Given the description of an element on the screen output the (x, y) to click on. 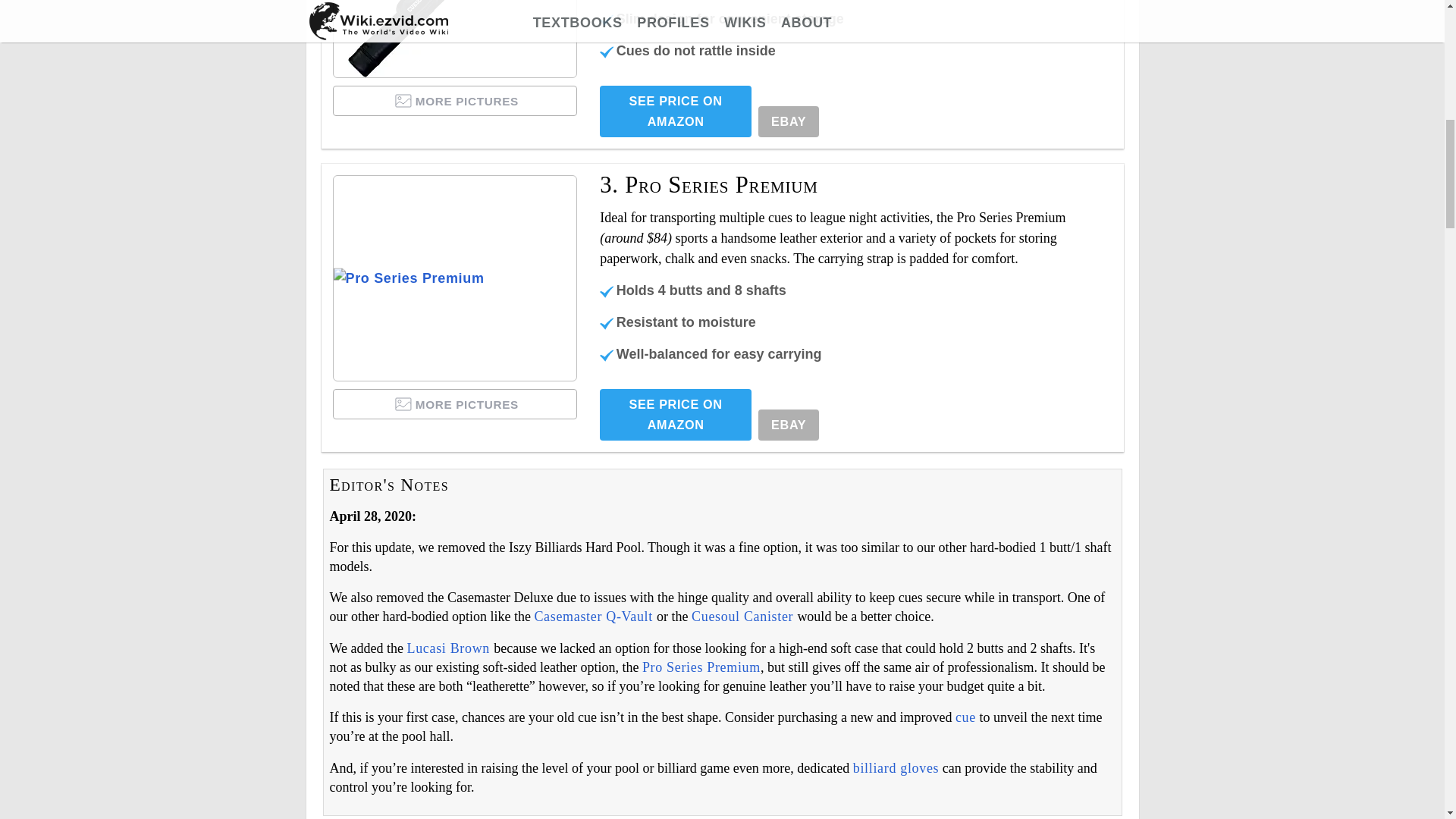
MORE PICTURES (454, 100)
